Given the description of an element on the screen output the (x, y) to click on. 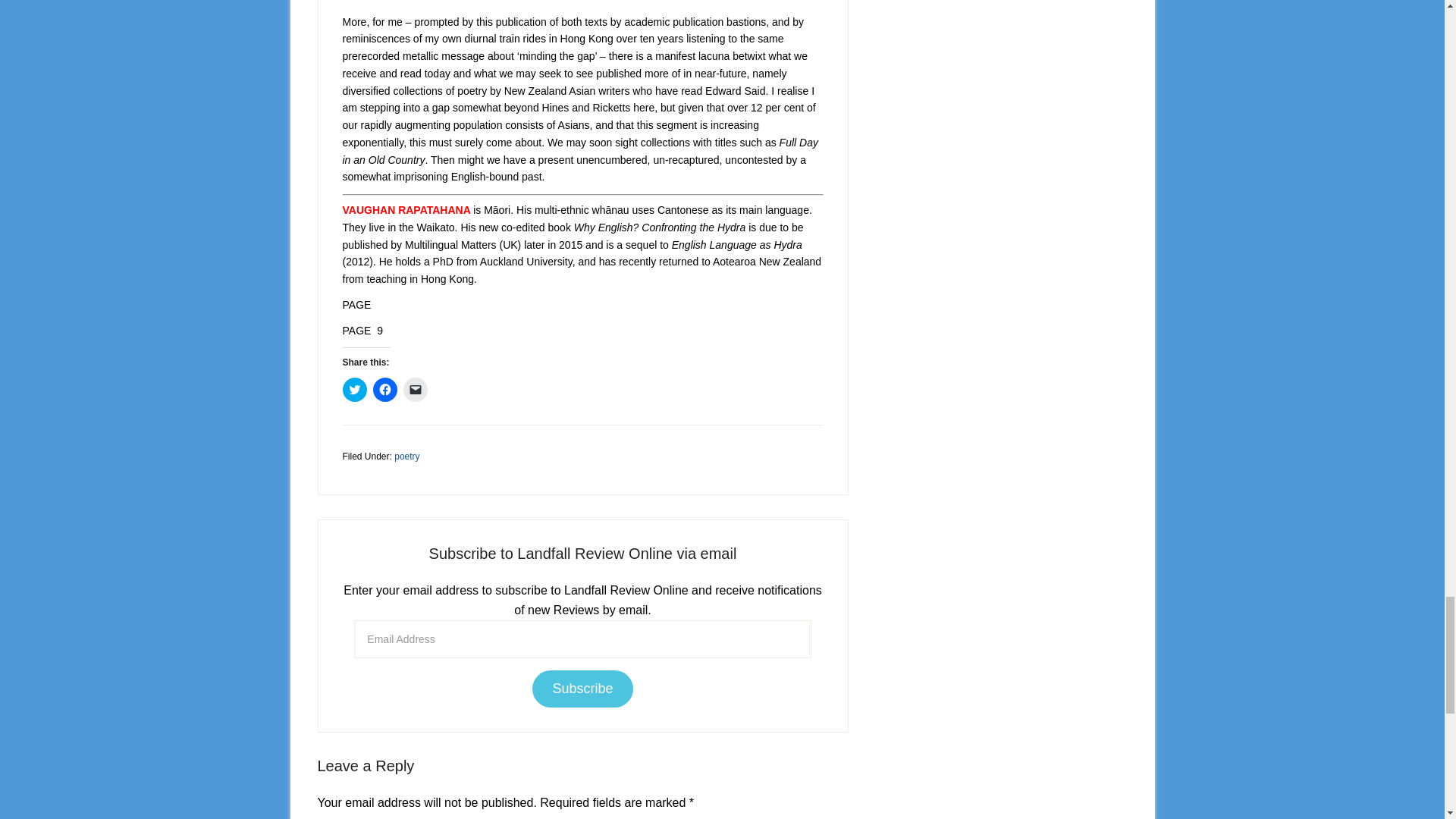
Click to share on Facebook (384, 389)
Click to share on Twitter (354, 389)
Click to email a link to a friend (415, 389)
poetry (406, 456)
Subscribe (581, 688)
